Given the description of an element on the screen output the (x, y) to click on. 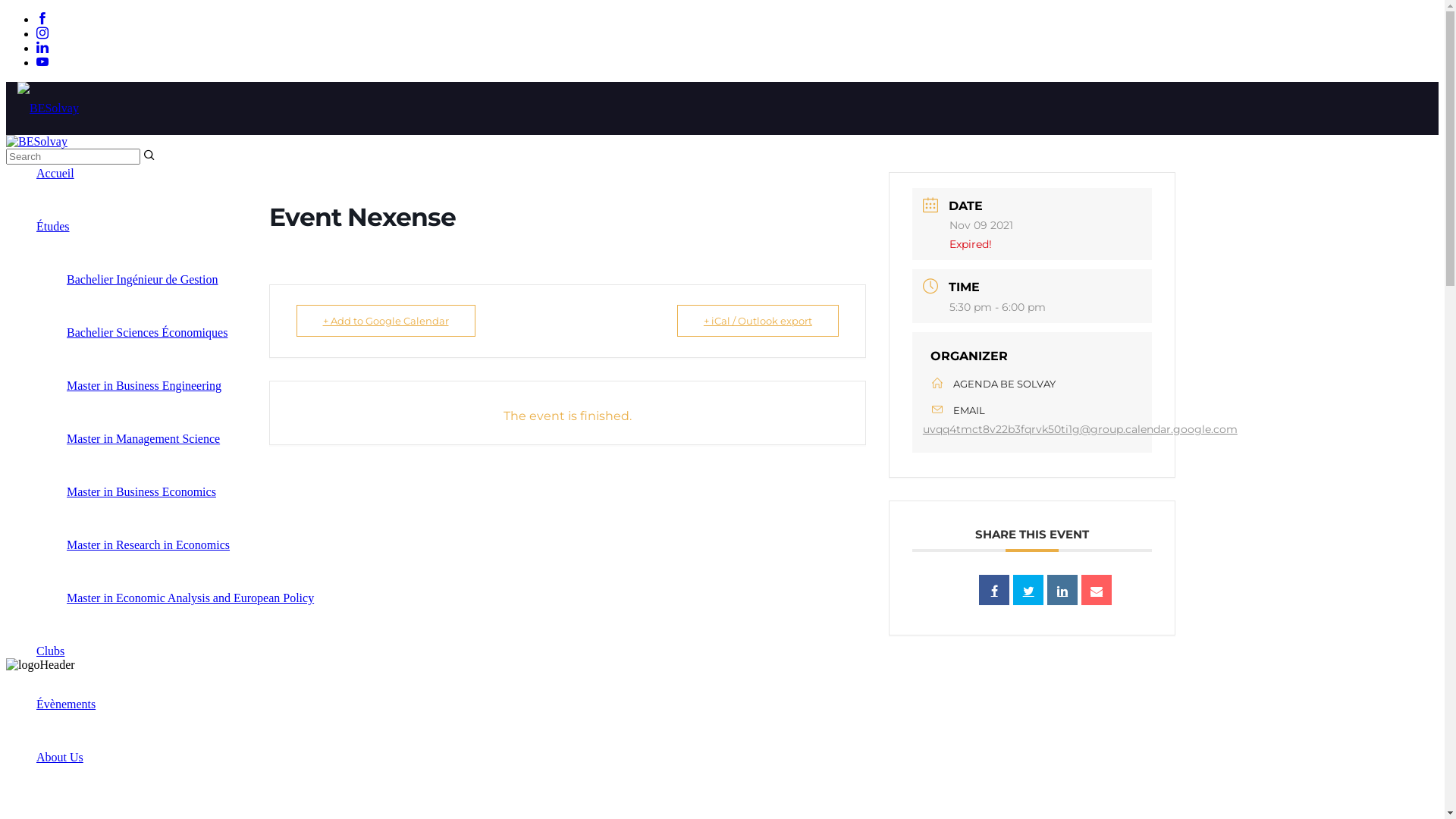
+ Add to Google Calendar Element type: text (384, 320)
Master in Management Science Element type: text (142, 438)
Share on Facebook Element type: hover (994, 589)
Tweet Element type: hover (1028, 589)
uvqq4tmct8v22b3fqrvk50ti1g@group.calendar.google.com Element type: text (1079, 429)
Master in Research in Economics Element type: text (147, 544)
Clubs Element type: text (50, 650)
Accueil Element type: text (55, 172)
Master in Business Economics Element type: text (141, 491)
Master in Business Engineering Element type: text (143, 385)
Email Element type: hover (1096, 589)
Master in Economic Analysis and European Policy Element type: text (189, 597)
About Us Element type: text (59, 756)
+ iCal / Outlook export Element type: text (757, 320)
Linkedin Element type: hover (1062, 589)
